Given the description of an element on the screen output the (x, y) to click on. 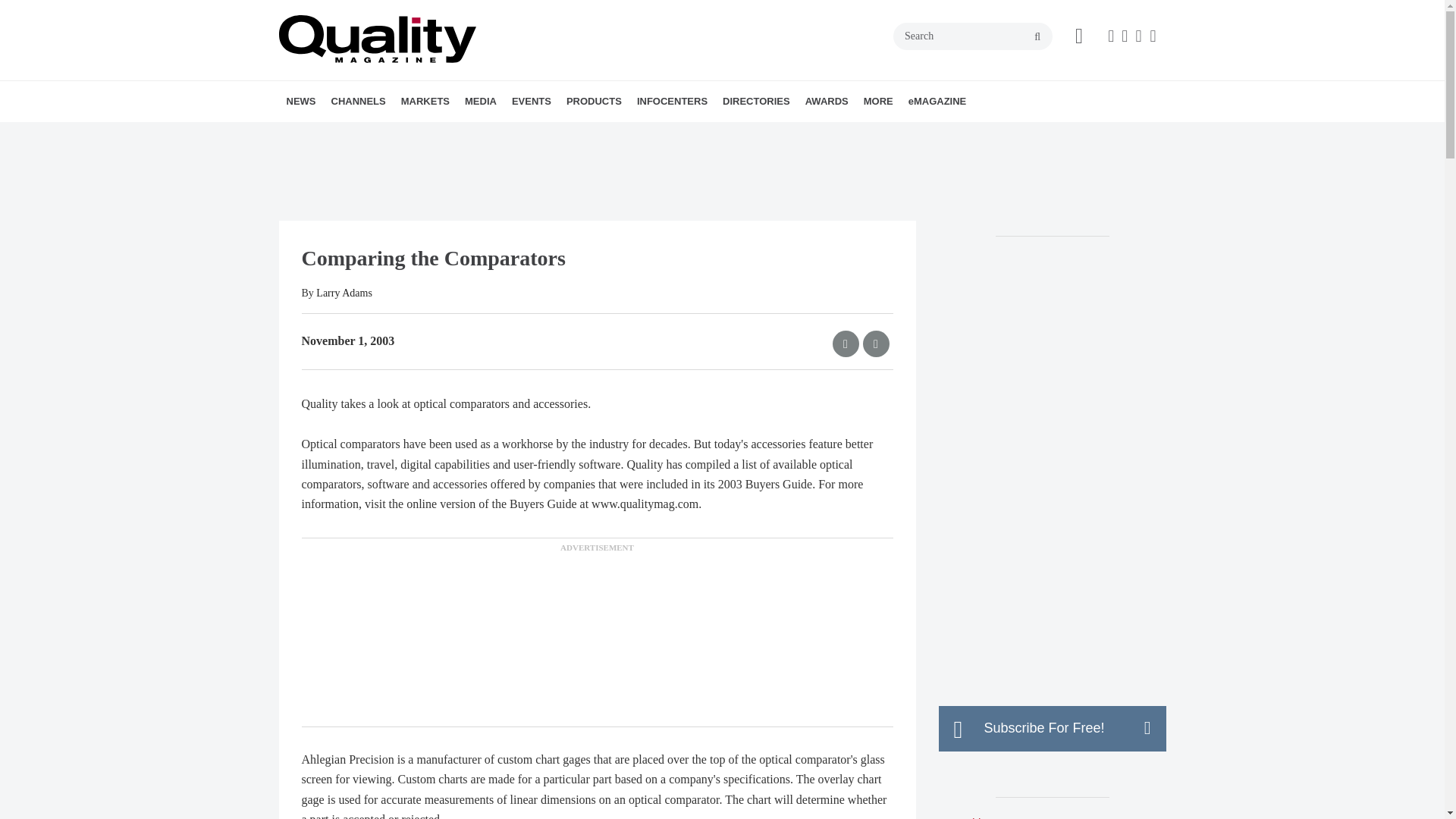
CHANNELS (358, 101)
MEDIA (480, 101)
GREEN MANUFACTURING (511, 134)
A WORD ON QUALITY PUZZLE (551, 134)
PLASTICS (519, 134)
AUTOMOTIVE (494, 134)
AEROSPACE (488, 134)
MANAGEMENT (424, 134)
WEBINARS (574, 134)
MEDICAL (515, 134)
ELECTRONICS (500, 134)
Search (972, 35)
PODCASTS (565, 134)
ENERGY (507, 134)
QUALITY 101 (442, 134)
